Given the description of an element on the screen output the (x, y) to click on. 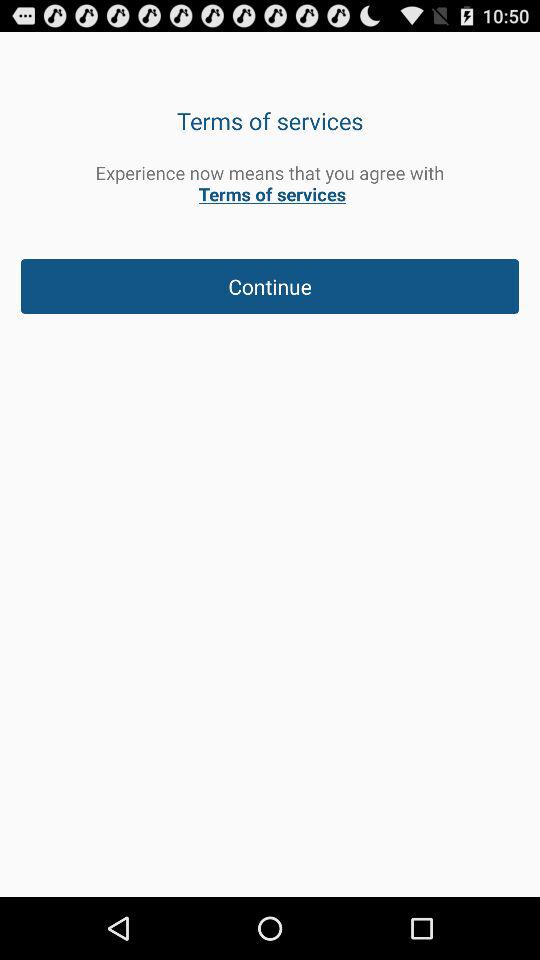
press icon below terms of services (270, 183)
